Given the description of an element on the screen output the (x, y) to click on. 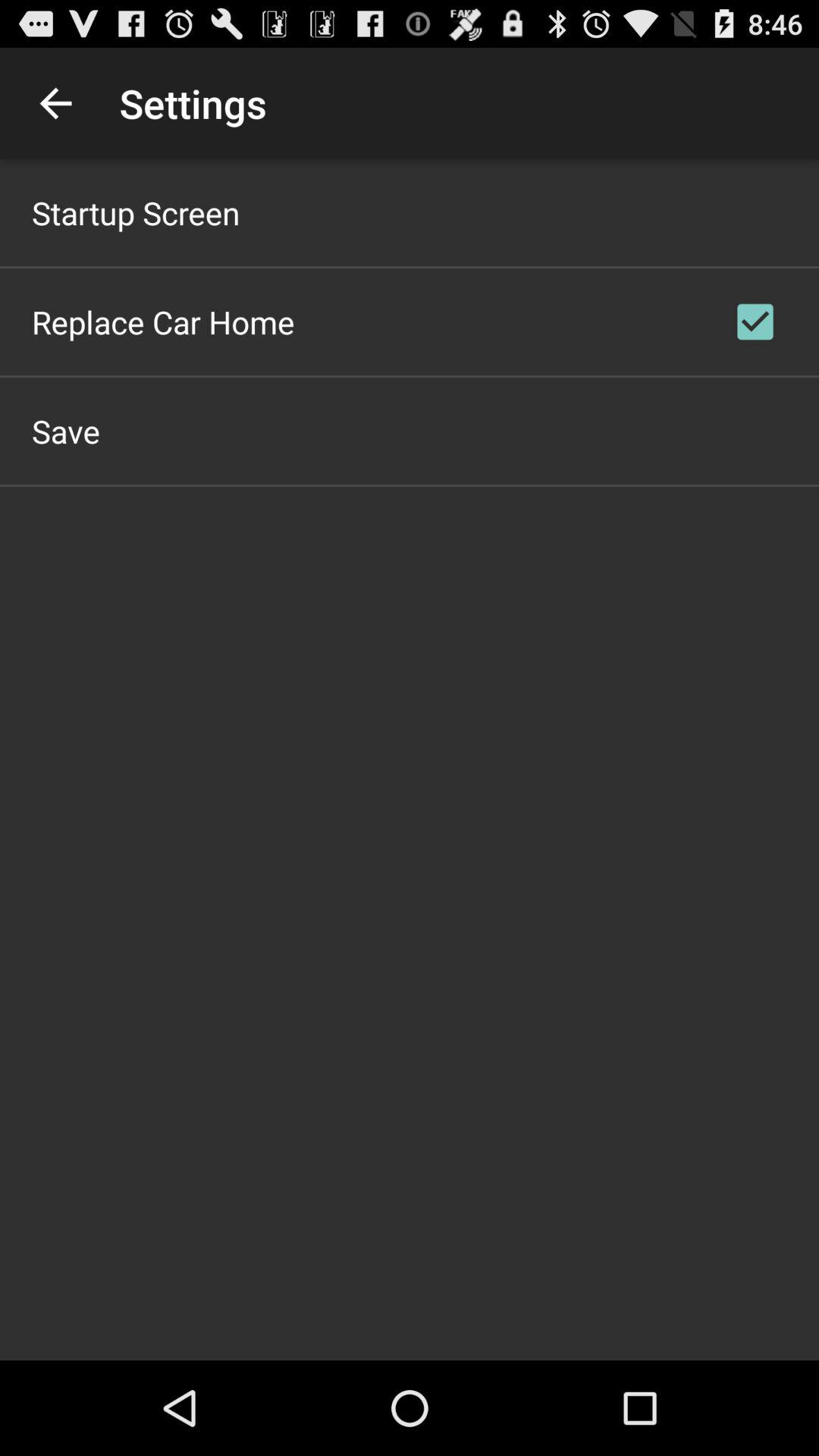
swipe to the startup screen app (135, 212)
